Given the description of an element on the screen output the (x, y) to click on. 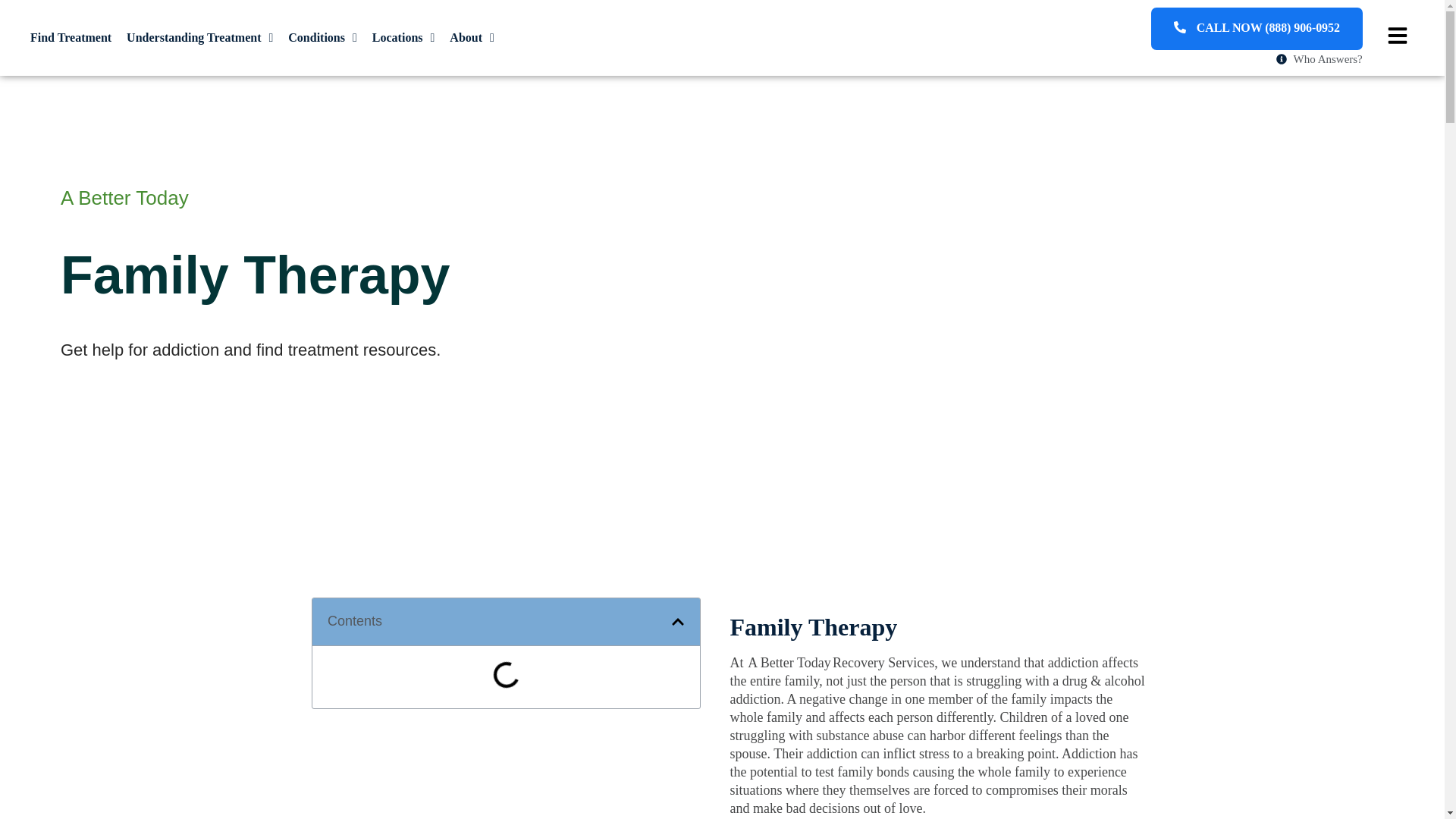
Understanding Treatment (200, 37)
Locations (403, 37)
Find Treatment (71, 37)
Conditions (323, 37)
